Given the description of an element on the screen output the (x, y) to click on. 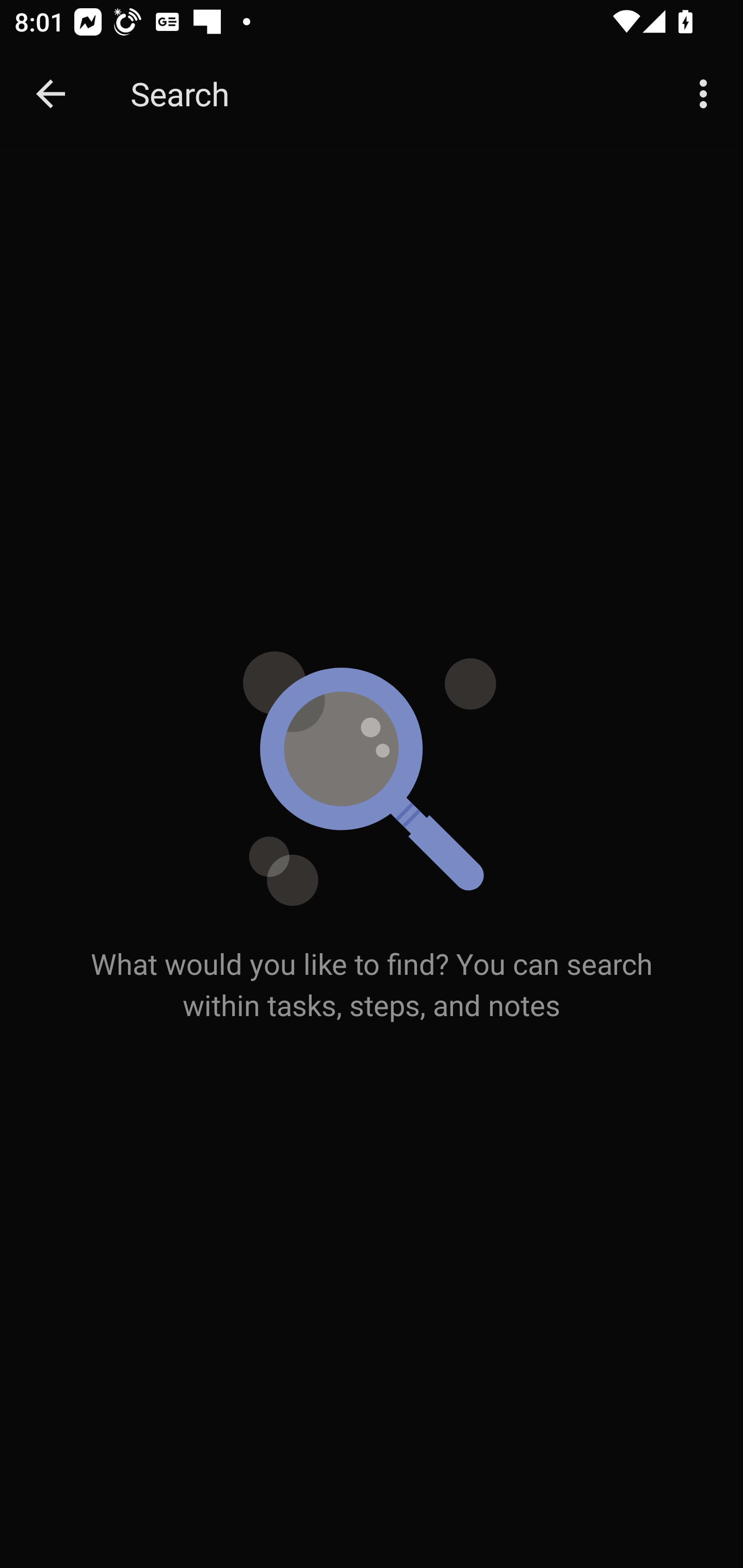
Navigate up (50, 93)
More options (706, 93)
Search (393, 94)
